Given the description of an element on the screen output the (x, y) to click on. 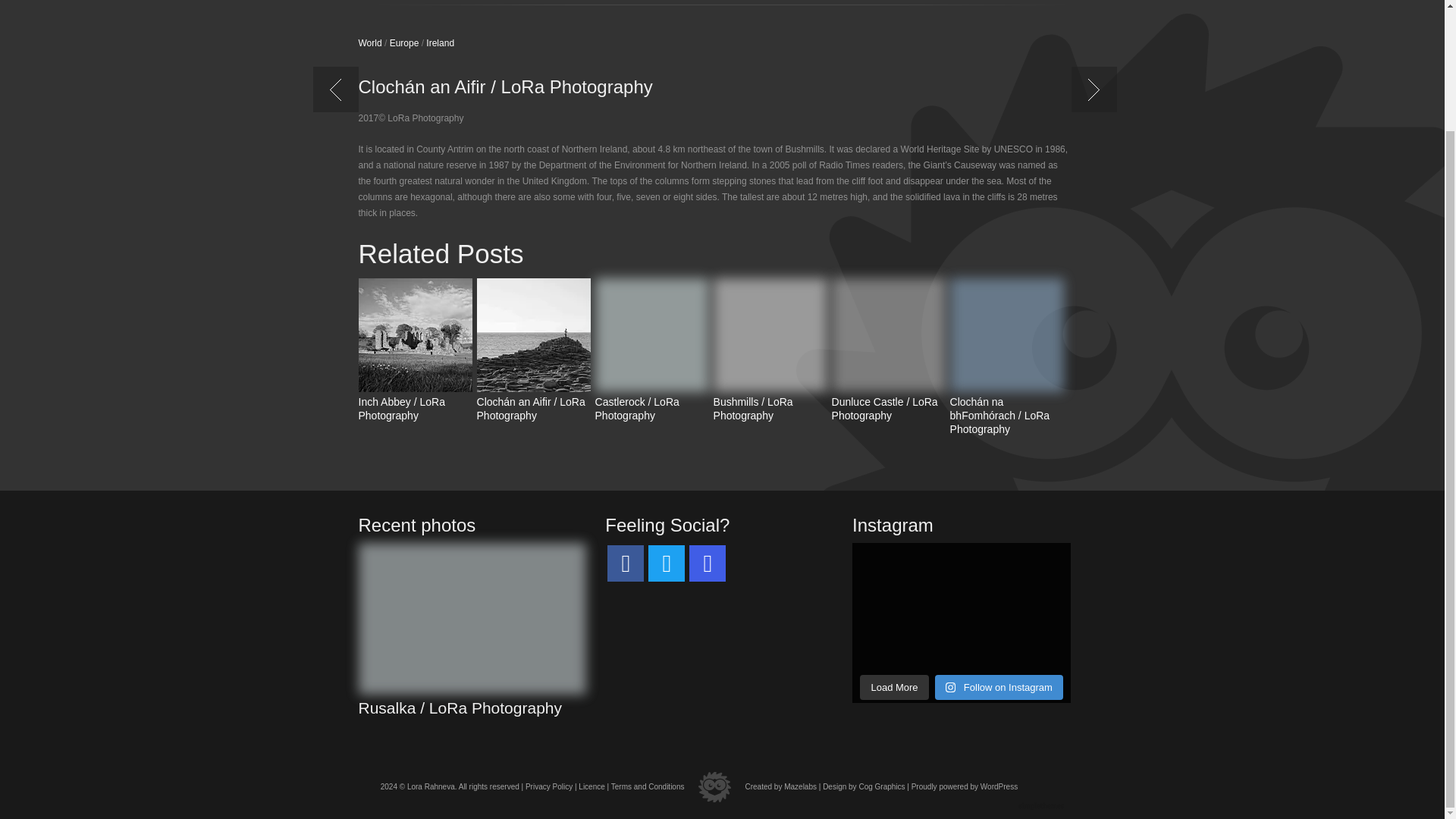
Previous photo (339, 105)
Asia (719, 2)
World photography (766, 2)
Product Photography (626, 2)
Asia photography (719, 2)
